Given the description of an element on the screen output the (x, y) to click on. 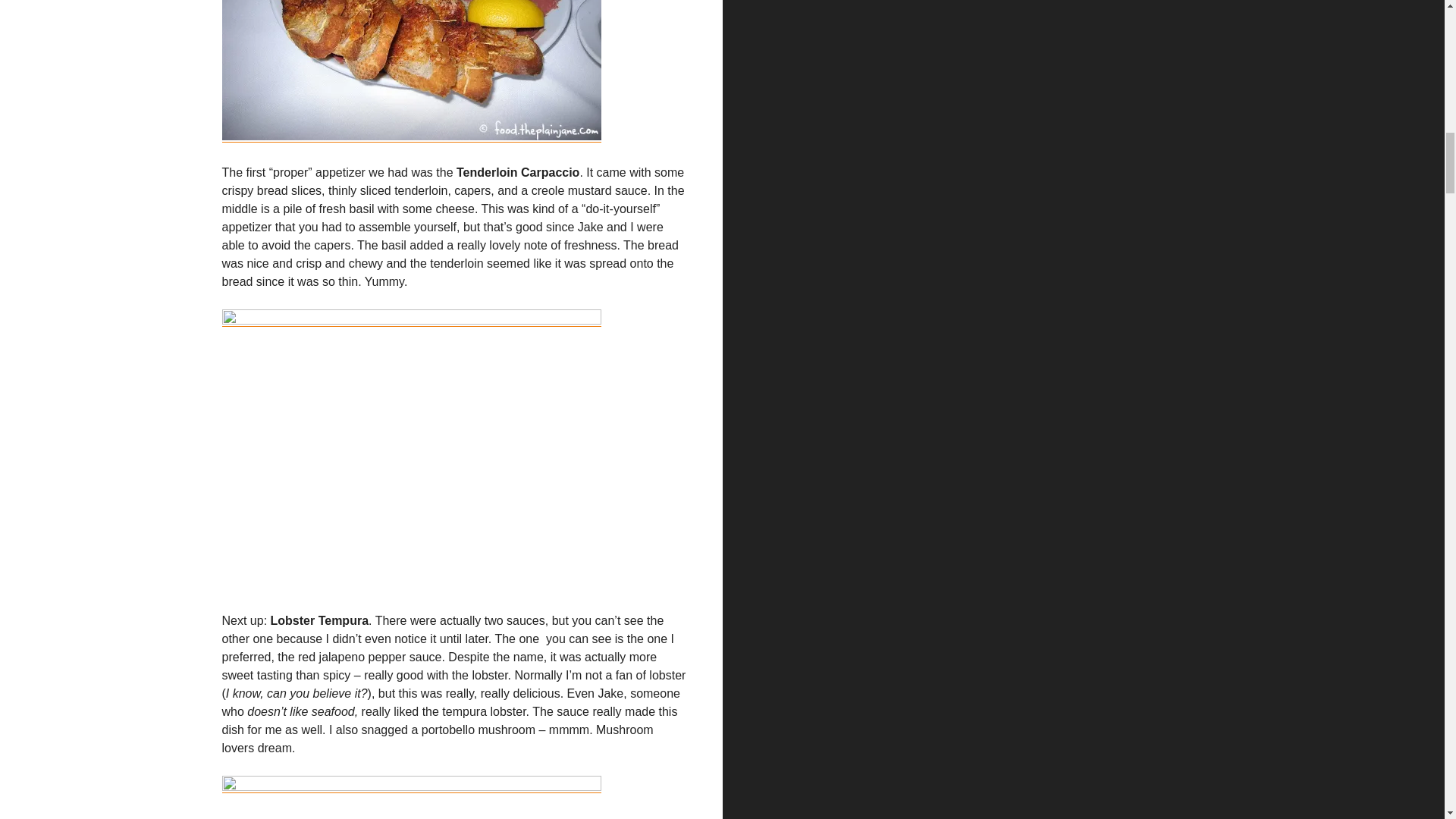
Oysters Rockefeller (410, 797)
